Given the description of an element on the screen output the (x, y) to click on. 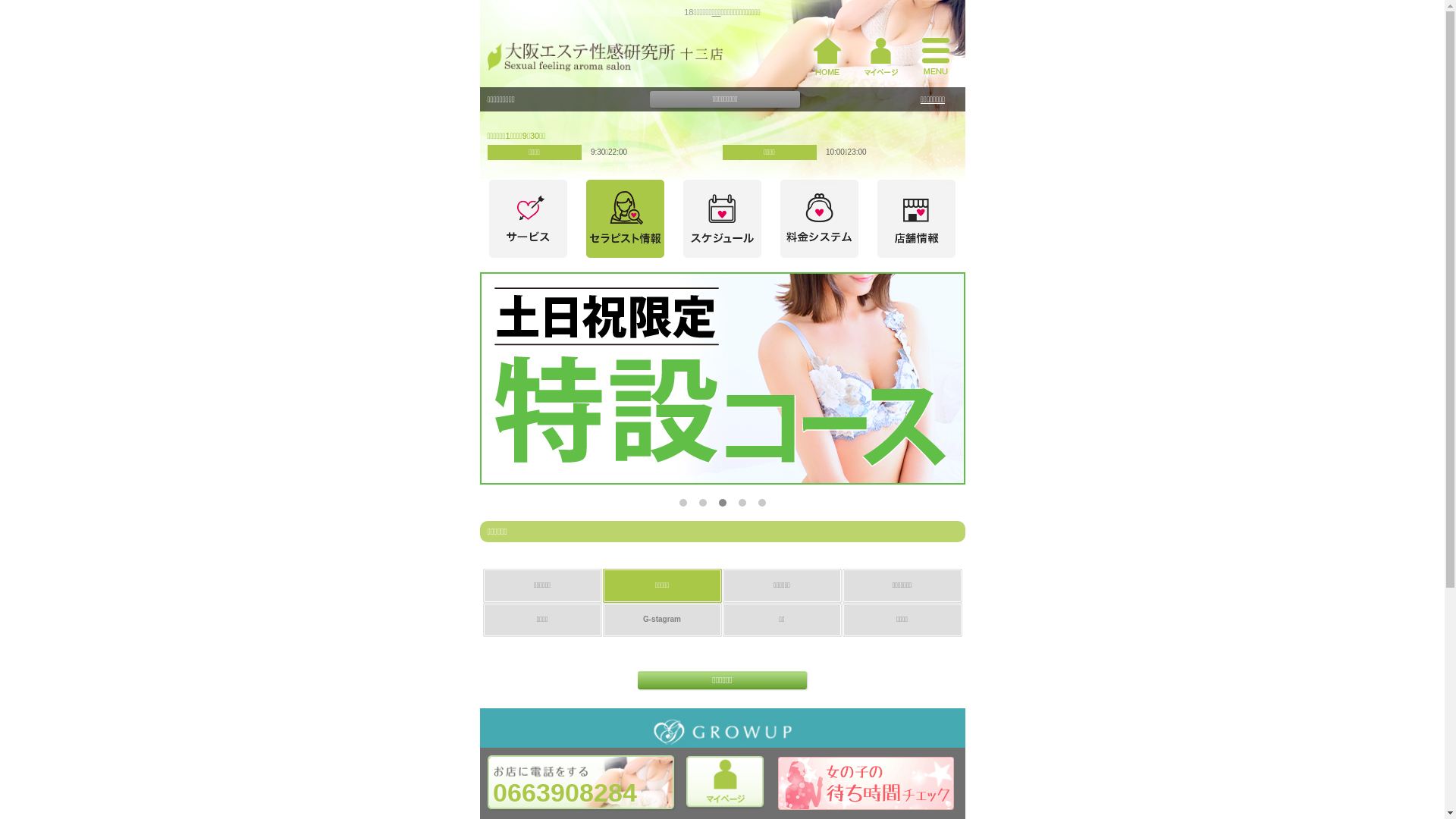
5 Element type: text (761, 502)
4 Element type: text (742, 502)
1 Element type: text (683, 502)
2 Element type: text (702, 502)
G-stagram Element type: text (661, 619)
3 Element type: text (722, 502)
0663908284 Element type: text (580, 783)
